Given the description of an element on the screen output the (x, y) to click on. 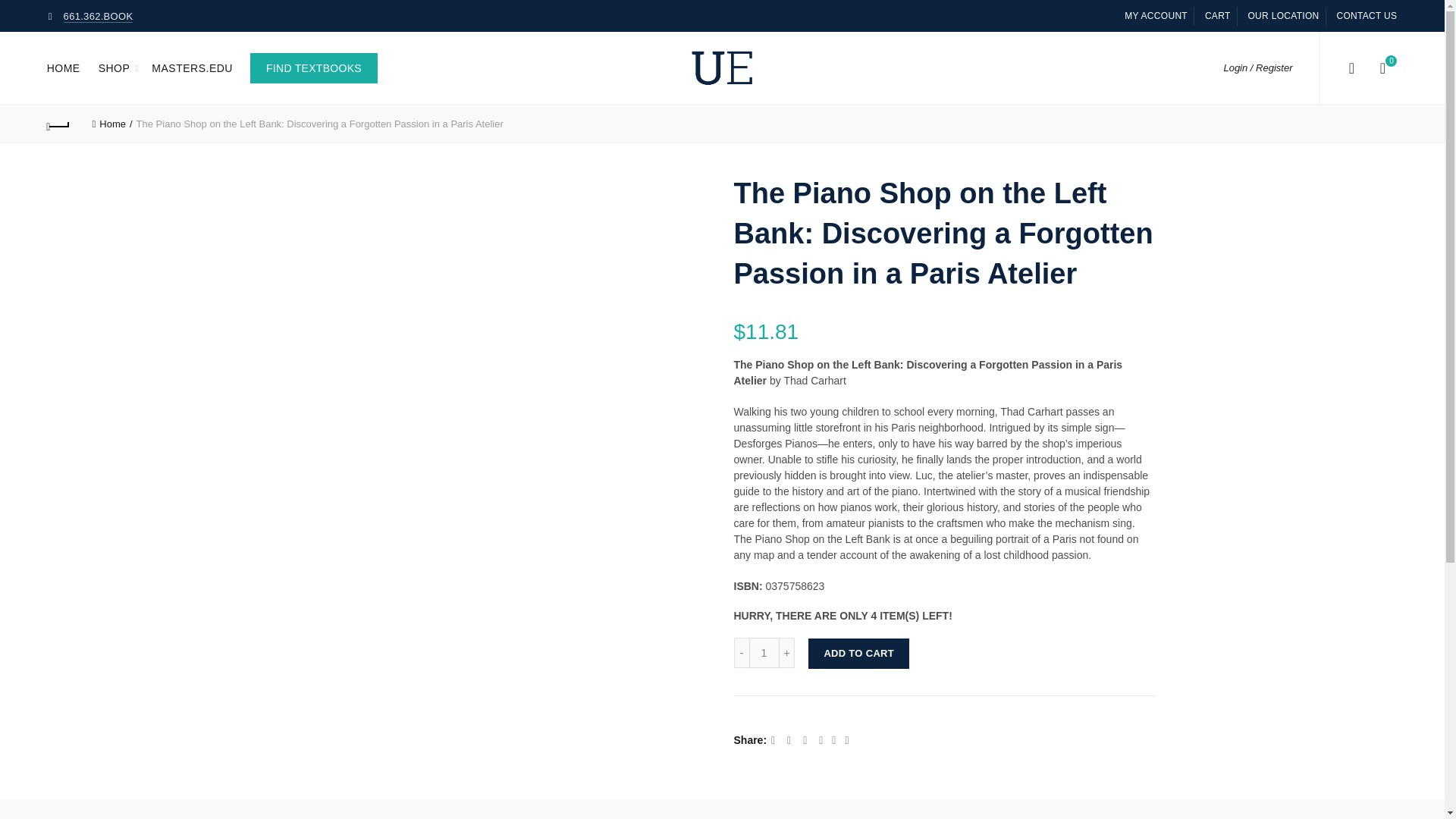
MASTERS.EDU (192, 67)
- (741, 653)
Qty (763, 653)
HOME (63, 67)
CART (1217, 15)
Back (59, 123)
MY ACCOUNT (1156, 15)
0 (1383, 67)
CONTACT US (1366, 15)
OUR LOCATION (1283, 15)
SHOP (113, 67)
ADD TO CART (858, 653)
1 (763, 653)
FIND TEXTBOOKS (313, 68)
Home (112, 123)
